Given the description of an element on the screen output the (x, y) to click on. 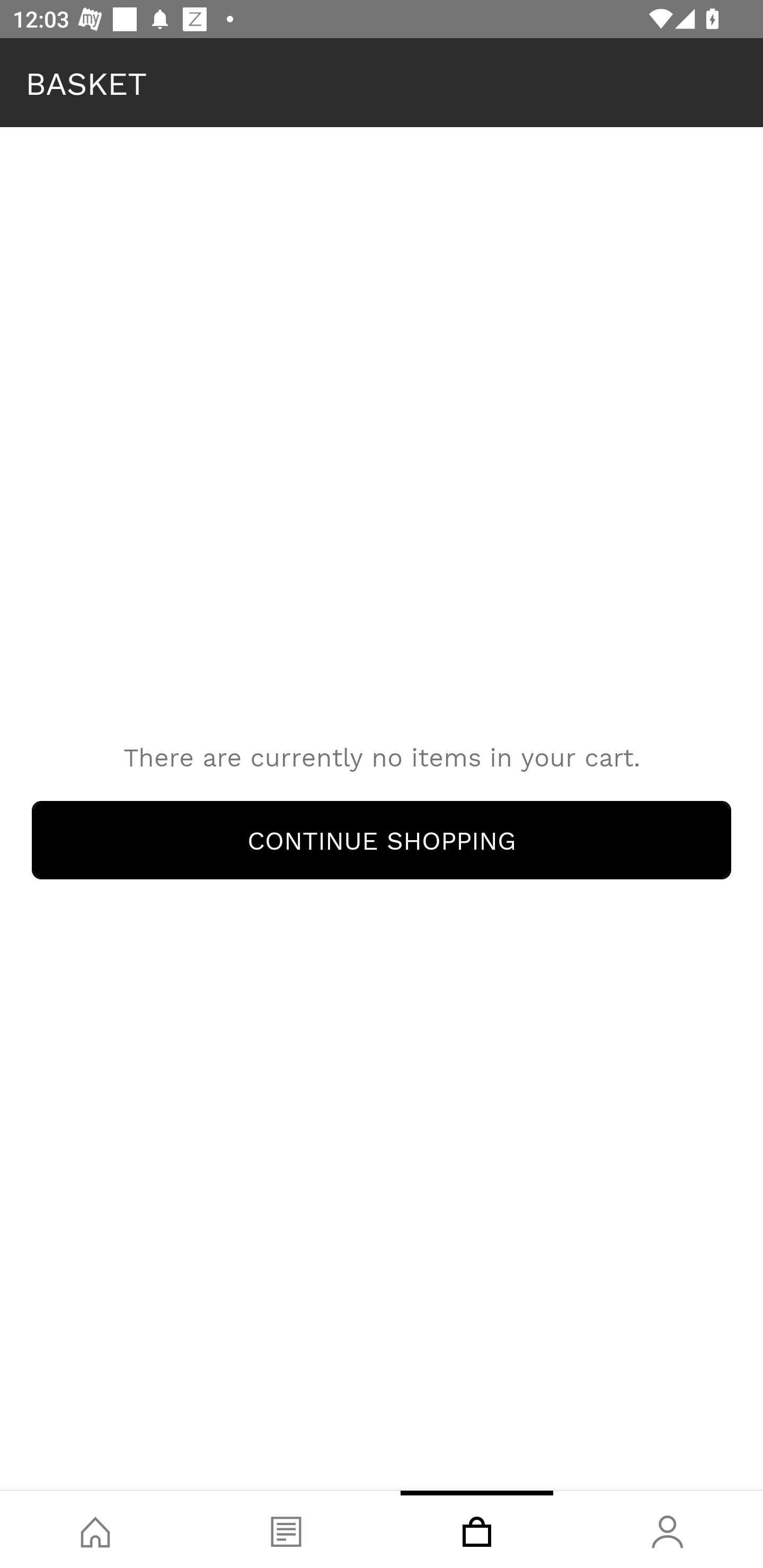
Continue Shopping CONTINUE SHOPPING (381, 840)
Shop, tab, 1 of 4 (95, 1529)
Blog, tab, 2 of 4 (285, 1529)
Basket, tab, 3 of 4 (476, 1529)
Account, tab, 4 of 4 (667, 1529)
